Given the description of an element on the screen output the (x, y) to click on. 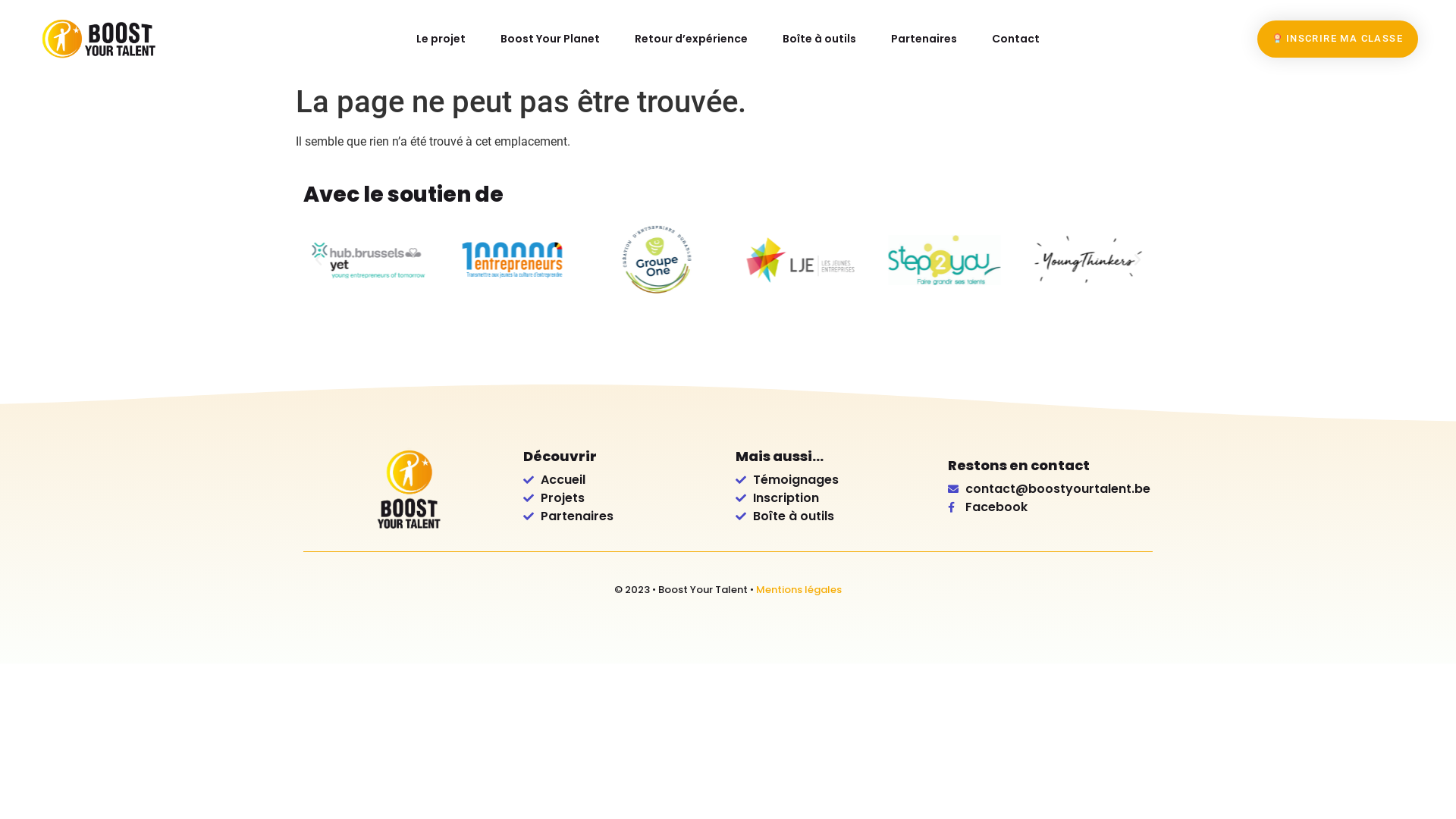
contact@boostyourtalent.be Element type: text (1046, 489)
Le projet Element type: text (440, 38)
Partenaires Element type: text (923, 38)
Facebook Element type: text (1046, 507)
INSCRIRE MA CLASSE Element type: text (1337, 38)
Contact Element type: text (1015, 38)
Boost Your Planet Element type: text (550, 38)
